Given the description of an element on the screen output the (x, y) to click on. 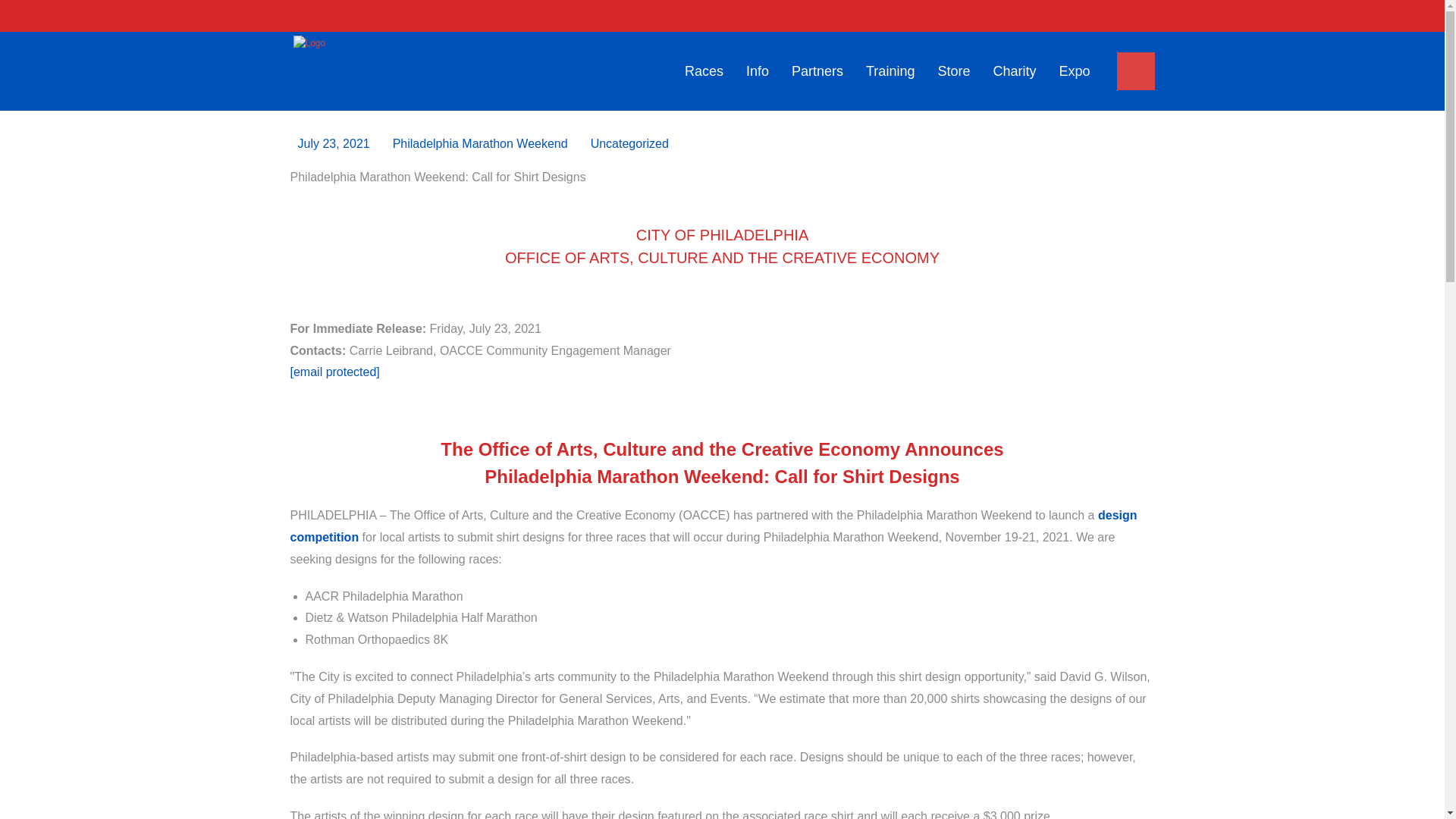
Races (703, 70)
Philadelphia Marathon Weekend: Call for Shirt Designs (333, 143)
Partners (817, 70)
View all posts by Philadelphia Marathon Weekend (480, 143)
Info (757, 70)
Training (890, 70)
